Given the description of an element on the screen output the (x, y) to click on. 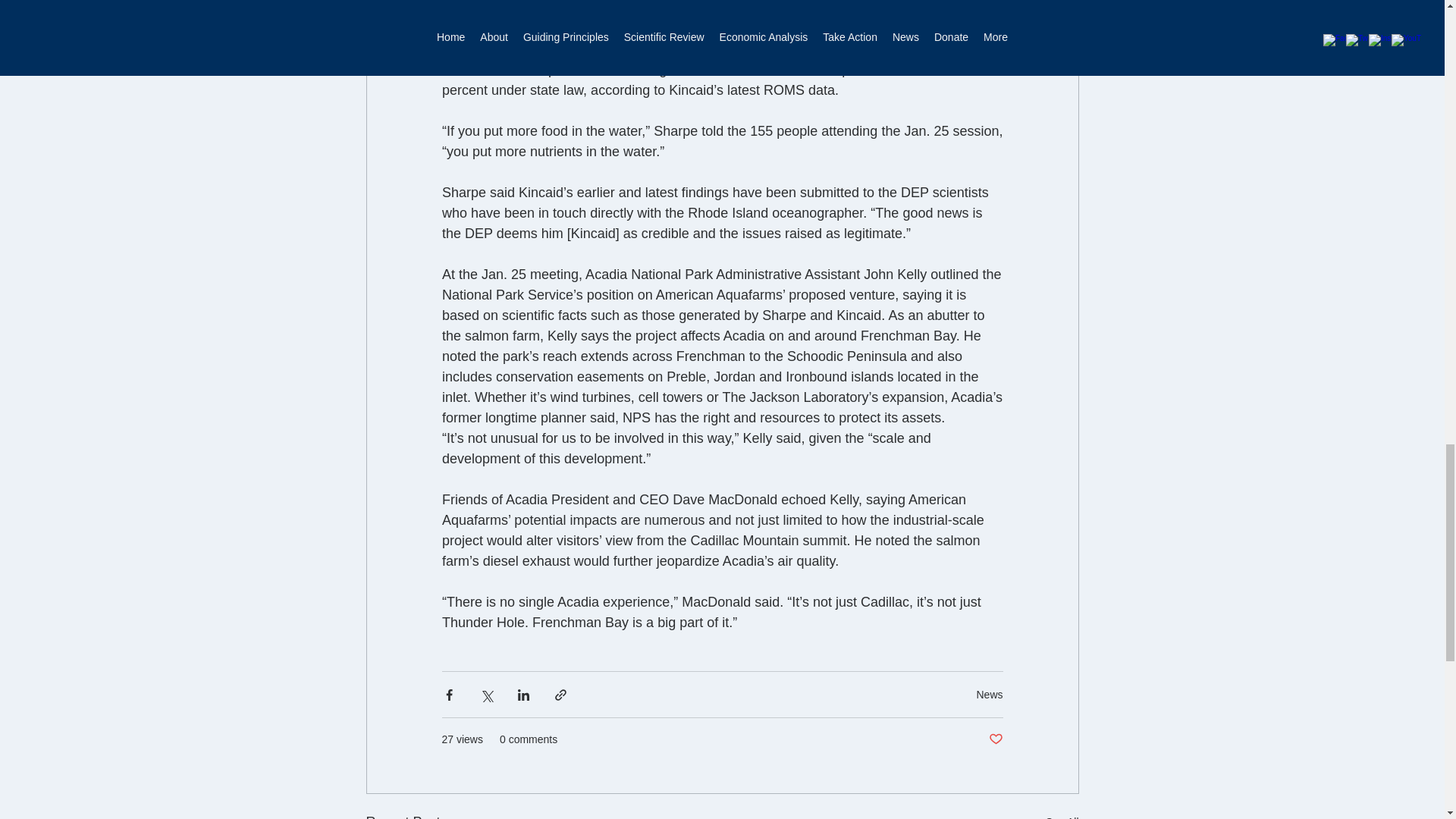
News (989, 694)
Post not marked as liked (995, 739)
See All (1061, 815)
